Given the description of an element on the screen output the (x, y) to click on. 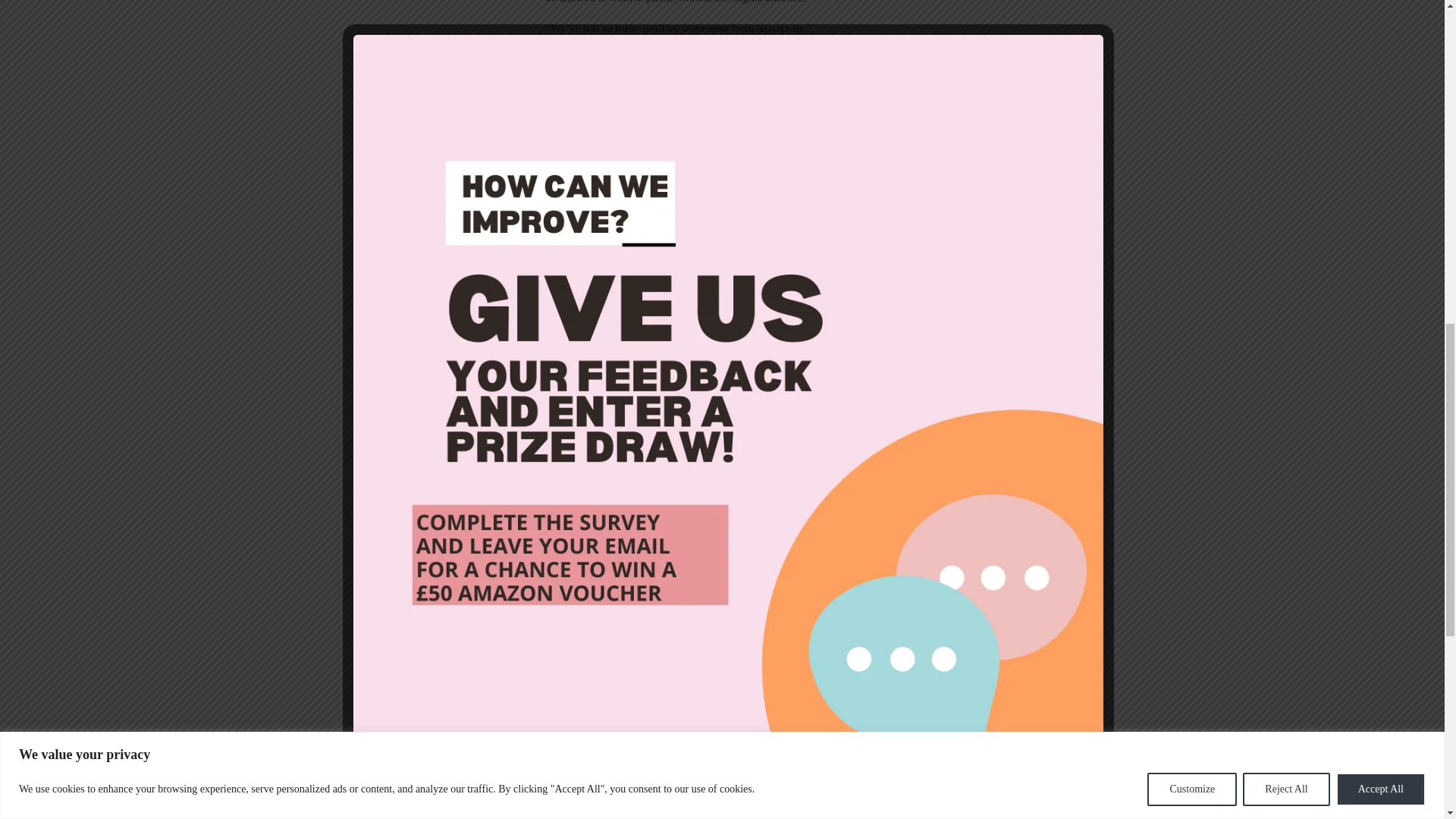
XL bullies to be banned from end of this year (631, 350)
Trainers provide services for American Bully XL owners (631, 232)
